Given the description of an element on the screen output the (x, y) to click on. 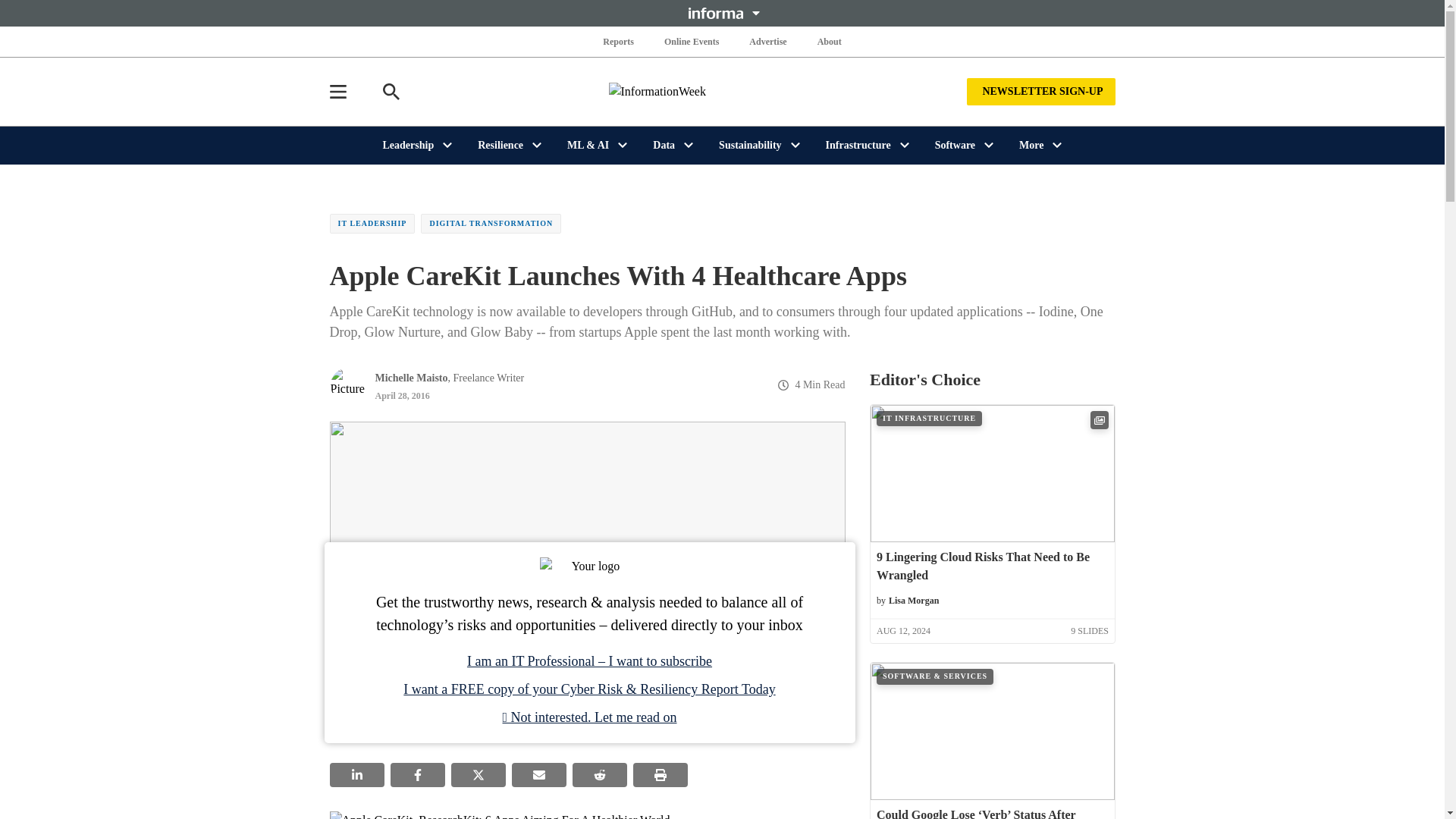
Advertise (767, 41)
About (828, 41)
Picture of Michelle Maisto (347, 384)
NEWSLETTER SIGN-UP (1040, 90)
Online Events (691, 41)
Reports (618, 41)
InformationWeek (721, 91)
